Given the description of an element on the screen output the (x, y) to click on. 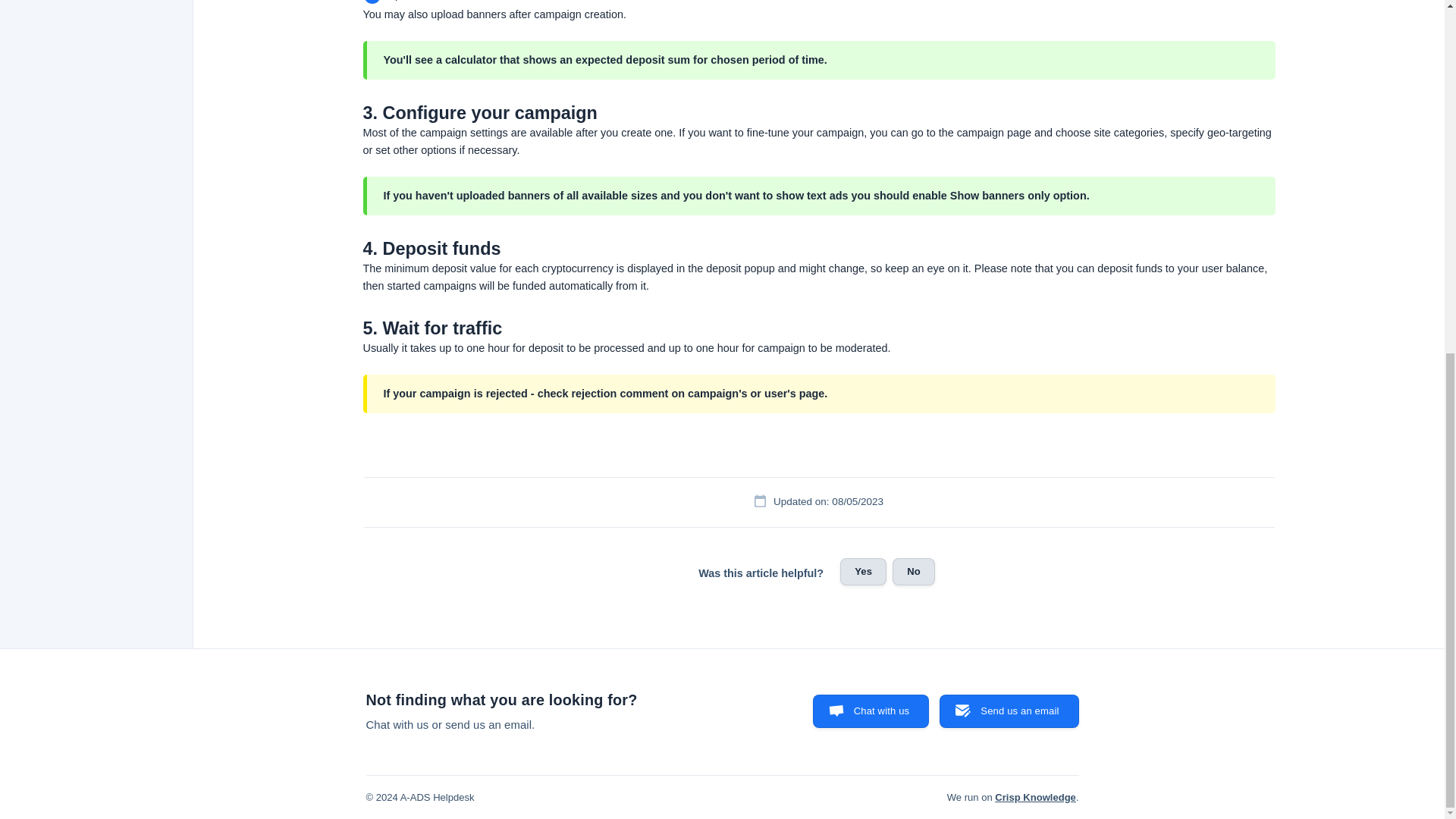
Yes (863, 571)
Crisp Knowledge (1034, 797)
No (913, 571)
Send us an email (1008, 711)
Chat with us (871, 711)
